Given the description of an element on the screen output the (x, y) to click on. 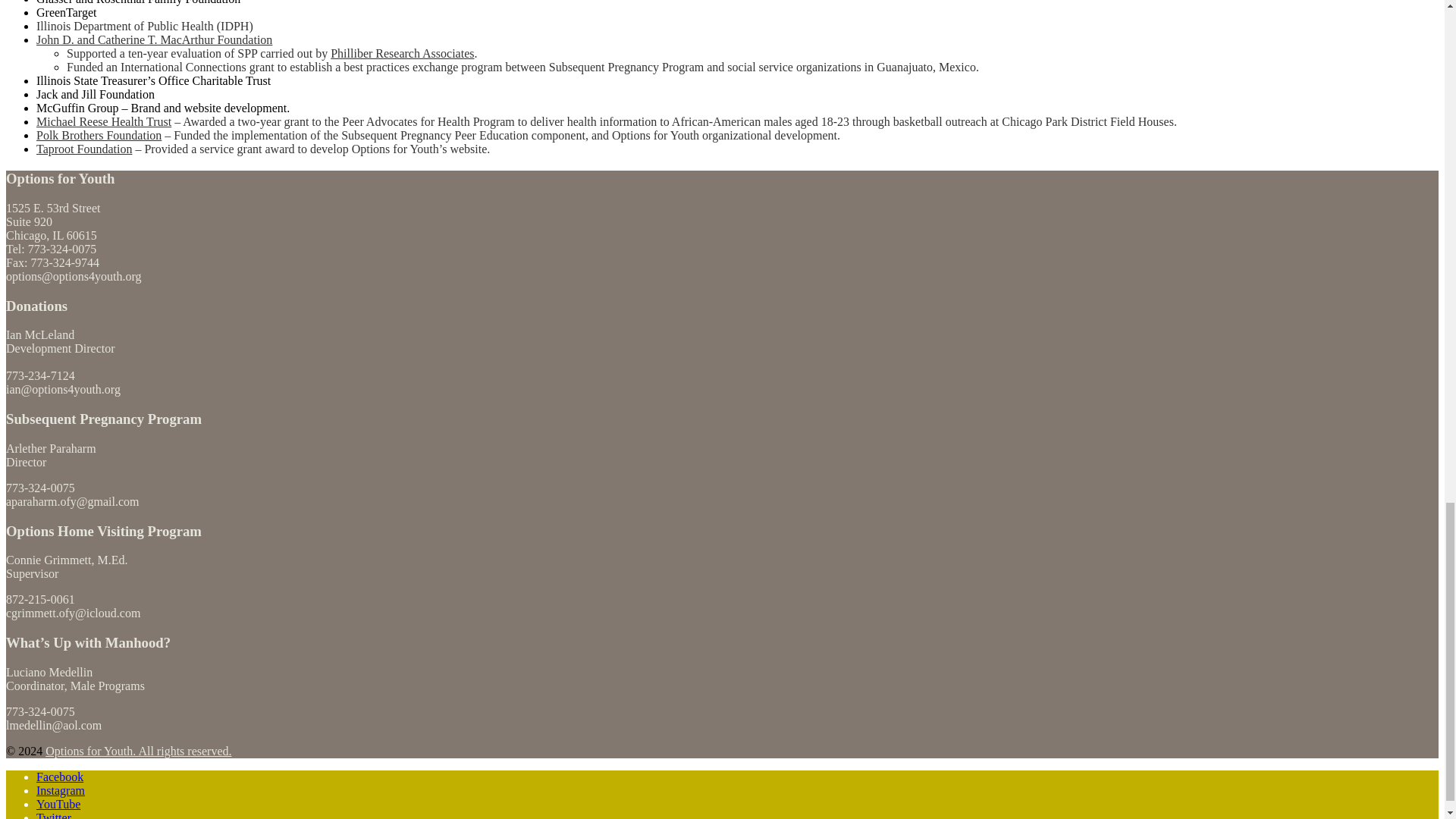
Michael Reese Health Trust (103, 121)
Polk Brothers Foundation (98, 134)
Options for Youth (138, 750)
Taproot Foundation (84, 148)
Instagram (60, 789)
Facebook (59, 776)
Philliber Research Associates (402, 52)
Options for Youth. All rights reserved. (138, 750)
YouTube (58, 803)
John D. and Catherine T. MacArthur Foundation (154, 39)
